Given the description of an element on the screen output the (x, y) to click on. 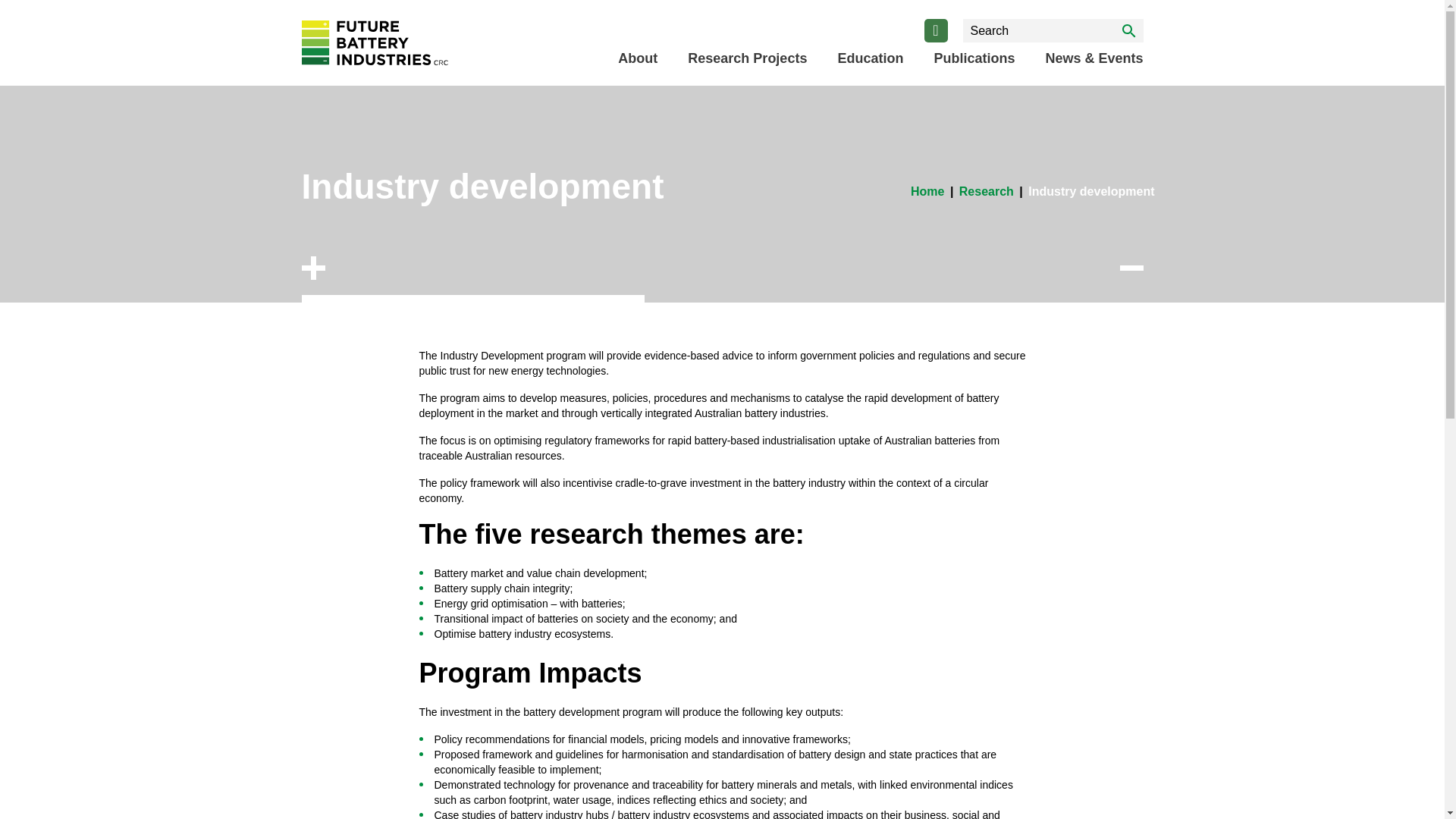
About (637, 57)
Education (869, 57)
Search (1128, 30)
Research Projects (746, 57)
Publications (973, 57)
Search (1128, 30)
Research (986, 191)
Home (927, 191)
